Given the description of an element on the screen output the (x, y) to click on. 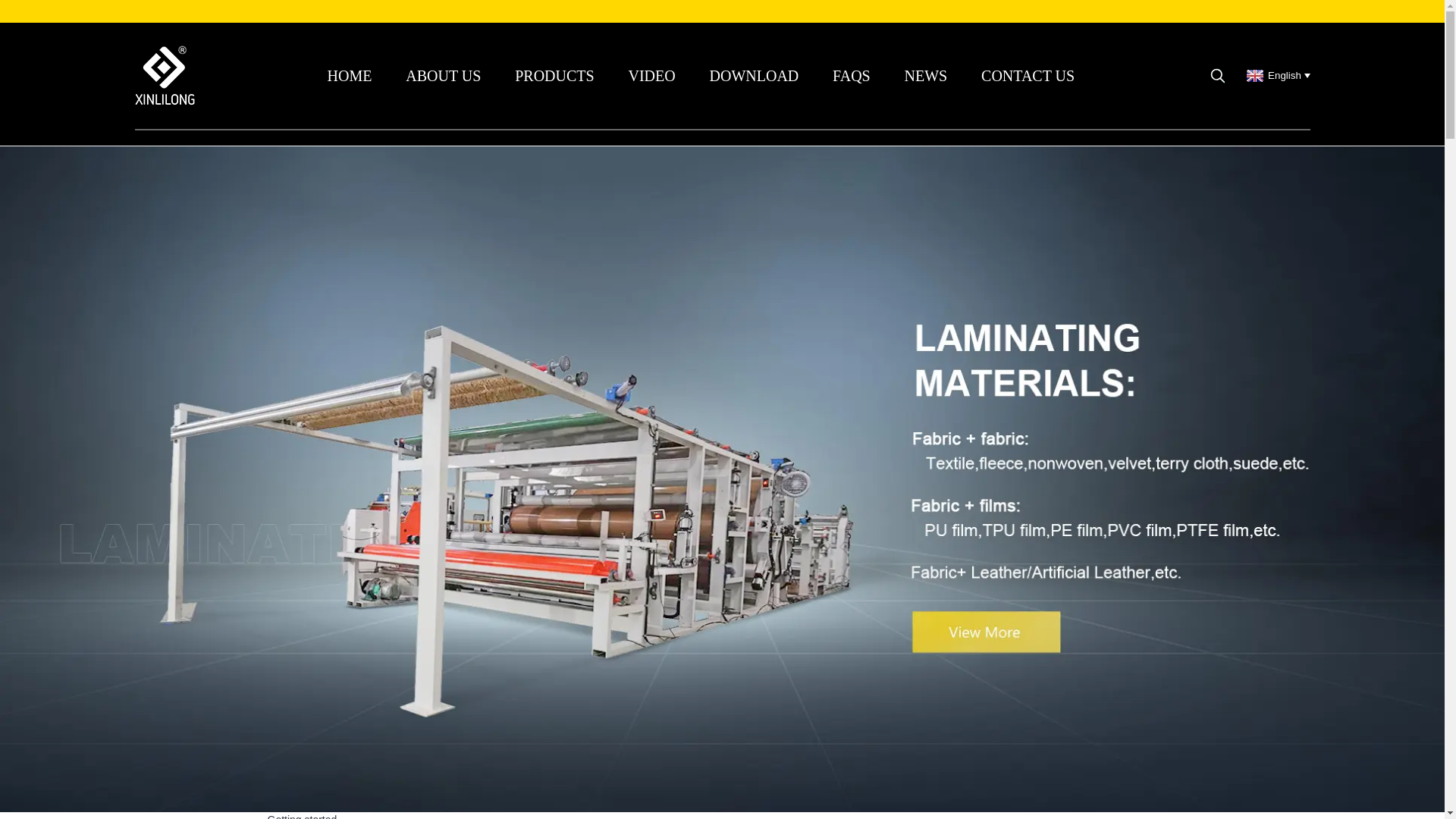
CONTACT US (1027, 75)
PRODUCTS (553, 75)
FAQS (851, 75)
ABOUT US (442, 75)
HOME (350, 75)
Getting started (301, 816)
NEWS (925, 75)
English (1275, 75)
VIDEO (651, 75)
DOWNLOAD (753, 75)
